Given the description of an element on the screen output the (x, y) to click on. 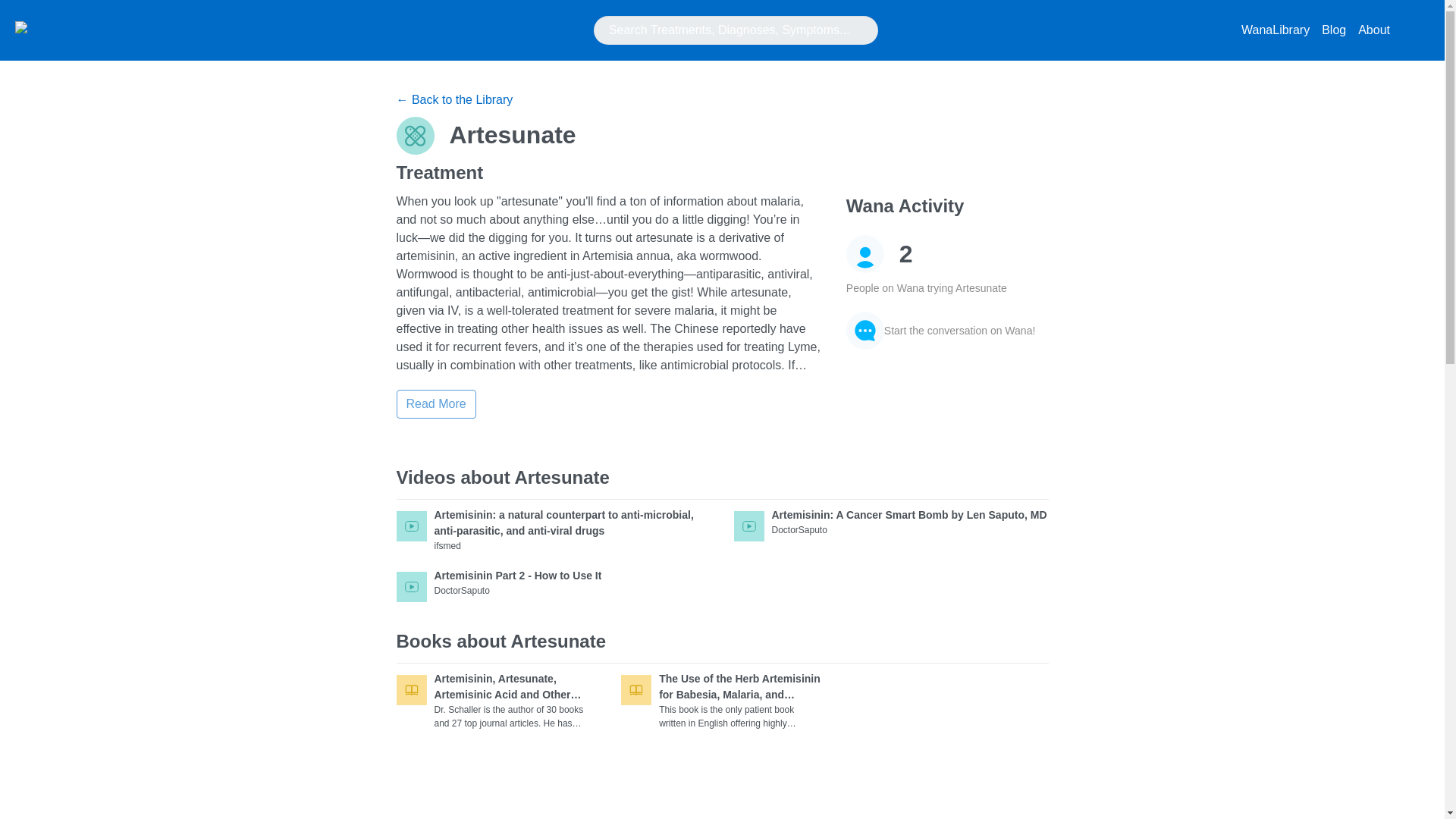
Blog (1334, 30)
WanaLibrary (1275, 30)
About (1374, 30)
Read More (553, 590)
